Given the description of an element on the screen output the (x, y) to click on. 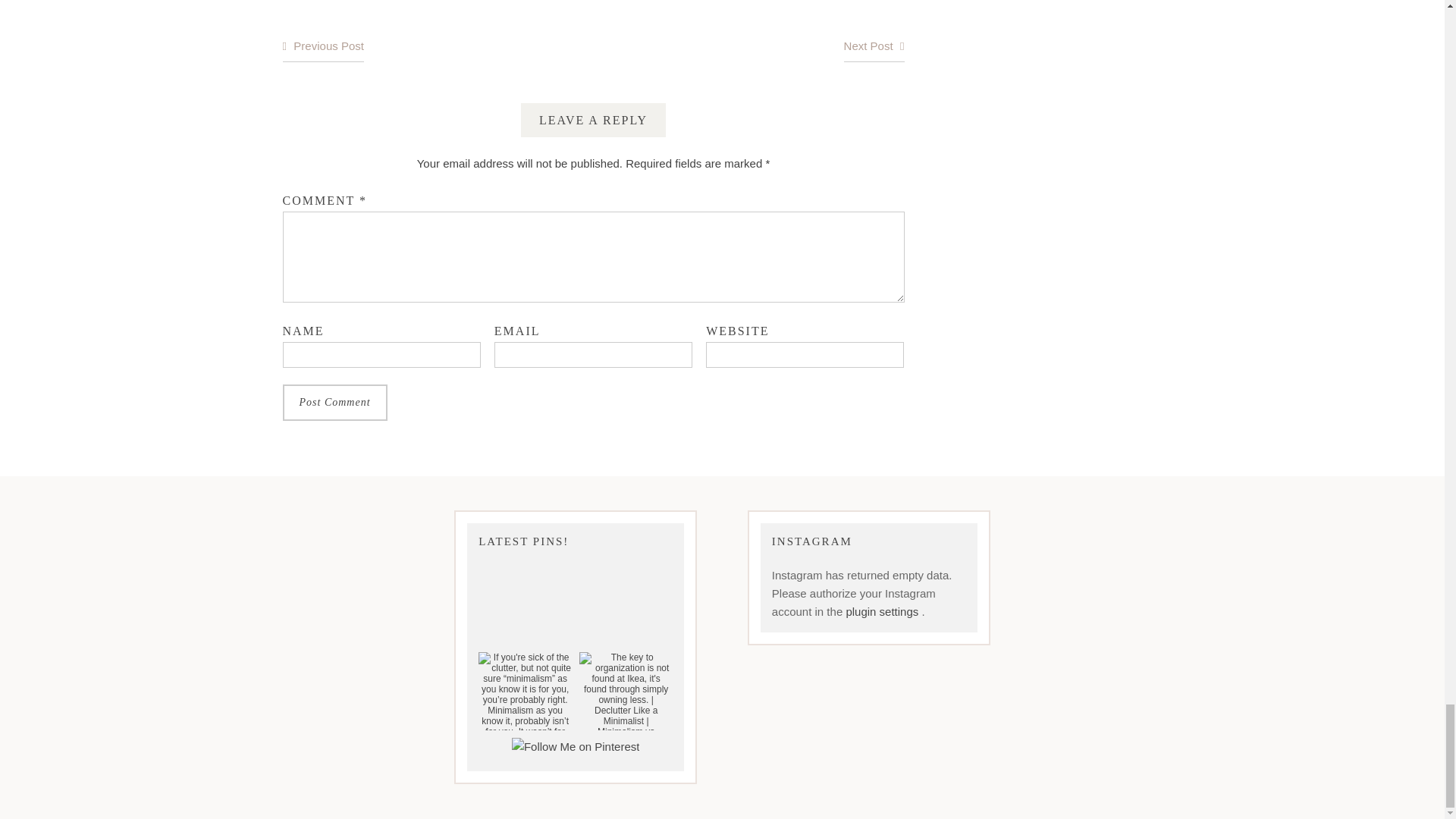
Next Post (874, 46)
Previous Post (322, 46)
Follow Me on Pinterest (575, 746)
 - Pinned on Mar 28, 2022 (525, 597)
 - Pinned on Jan 25, 2022 (625, 597)
Post Comment (334, 402)
Post Comment (334, 402)
plugin settings (883, 611)
